Given the description of an element on the screen output the (x, y) to click on. 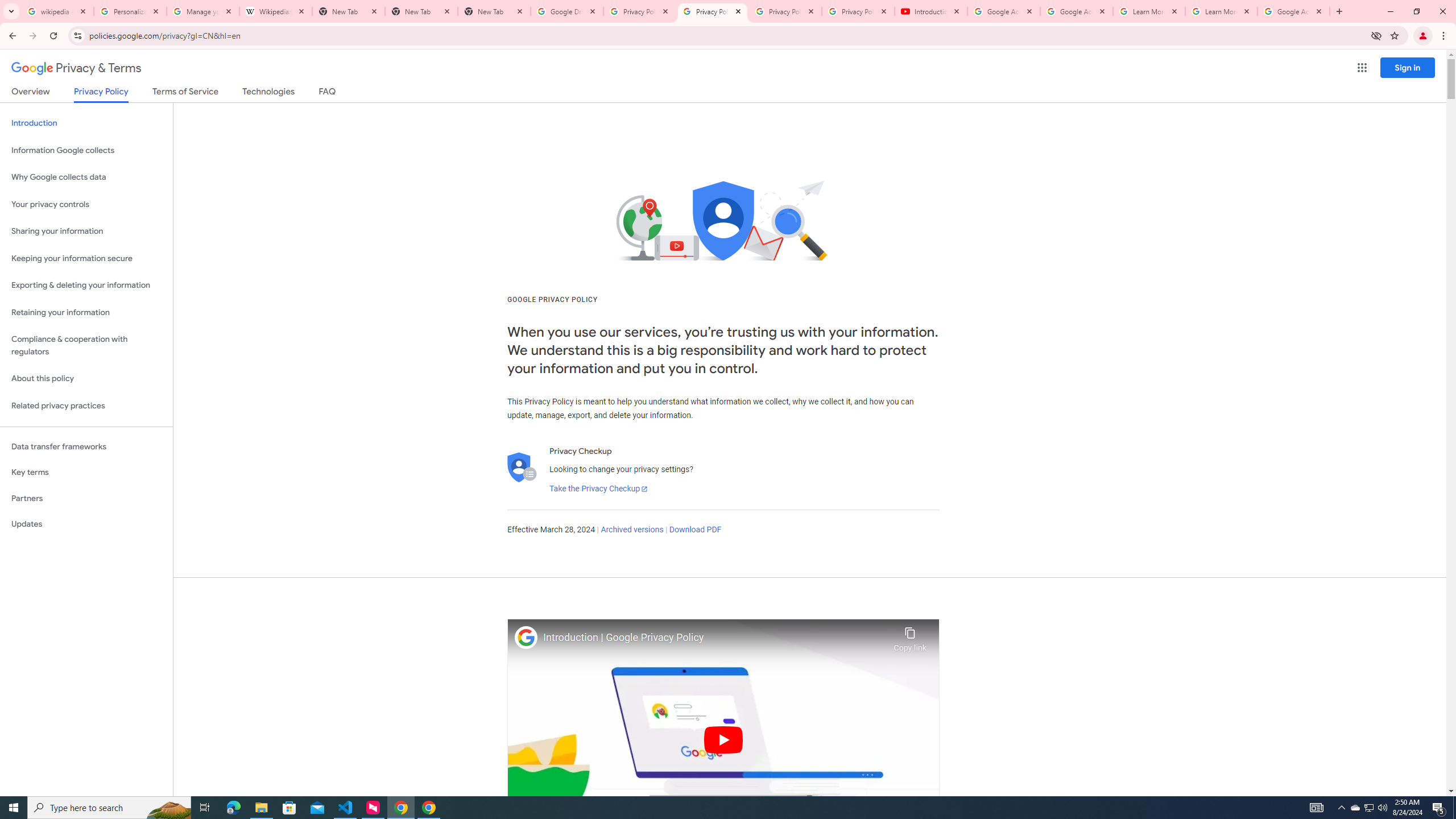
Personalization & Google Search results - Google Search Help (129, 11)
Google Account Help (1003, 11)
Archived versions (631, 529)
Manage your Location History - Google Search Help (202, 11)
Download PDF (695, 529)
Take the Privacy Checkup (597, 488)
Terms of Service (184, 93)
Your privacy controls (86, 204)
Why Google collects data (86, 176)
Updates (86, 524)
